Given the description of an element on the screen output the (x, y) to click on. 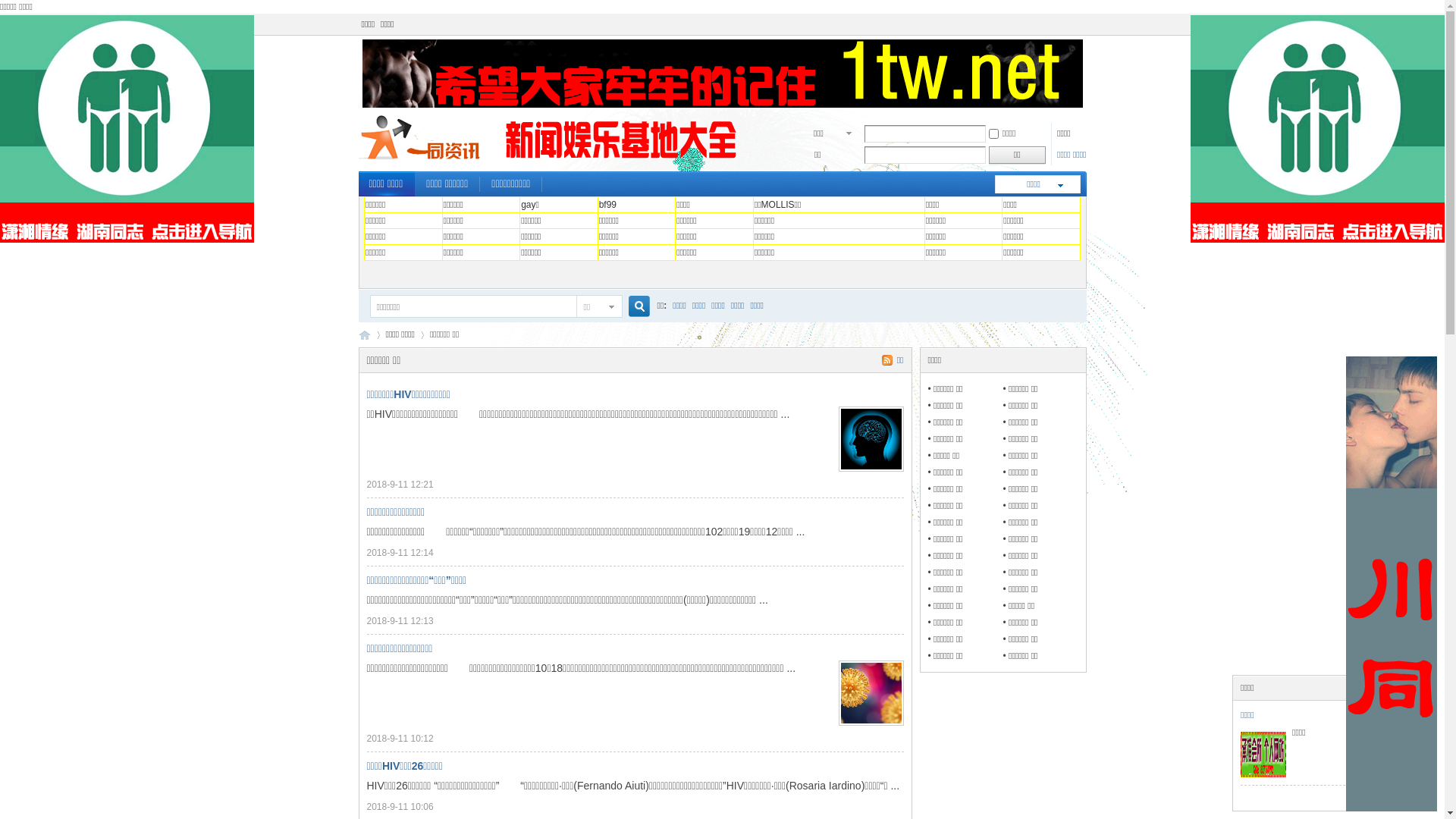
bf99 Element type: text (607, 204)
true Element type: text (632, 306)
